Given the description of an element on the screen output the (x, y) to click on. 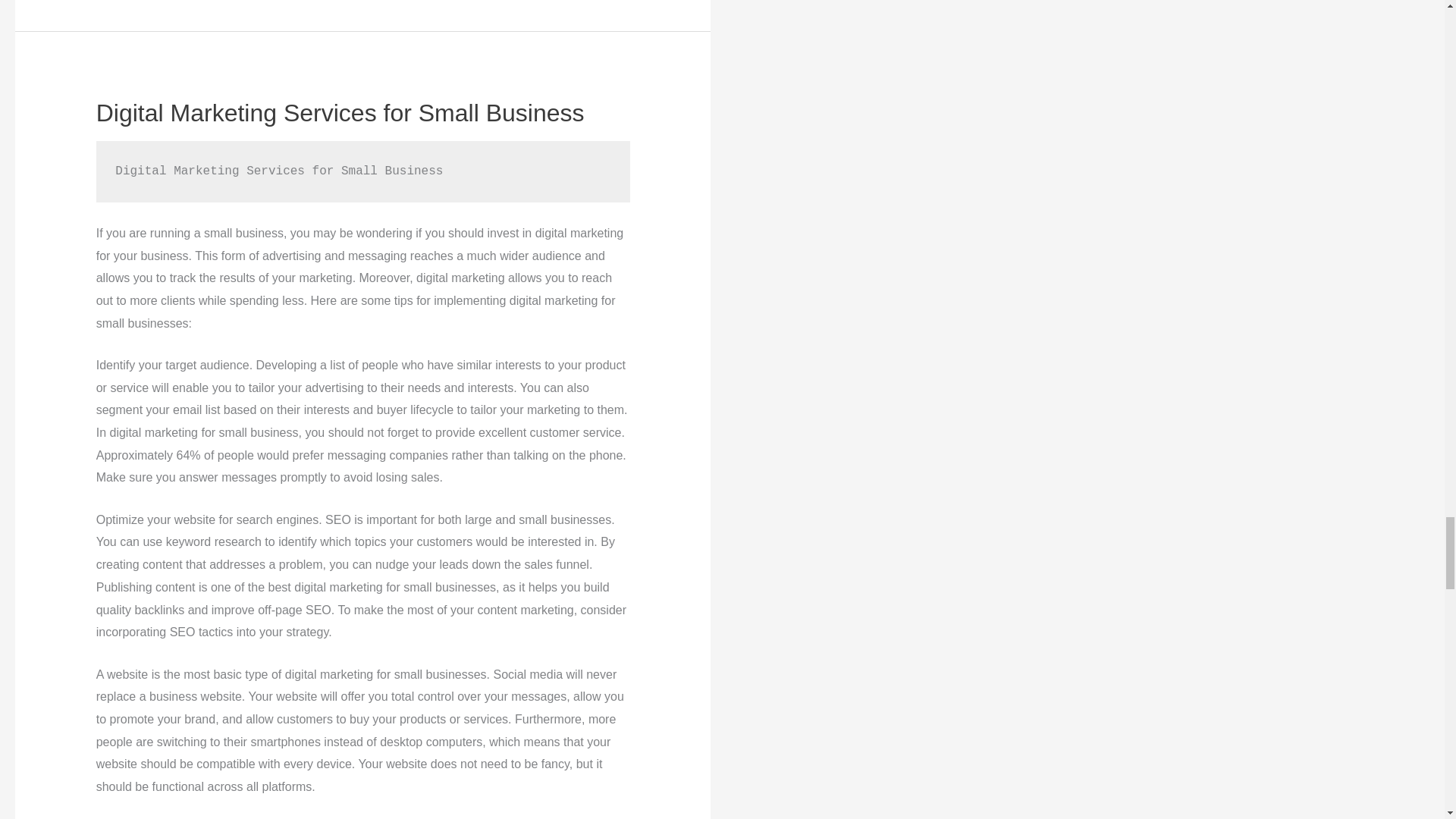
Digital Marketing Services for Small Business (340, 112)
